Given the description of an element on the screen output the (x, y) to click on. 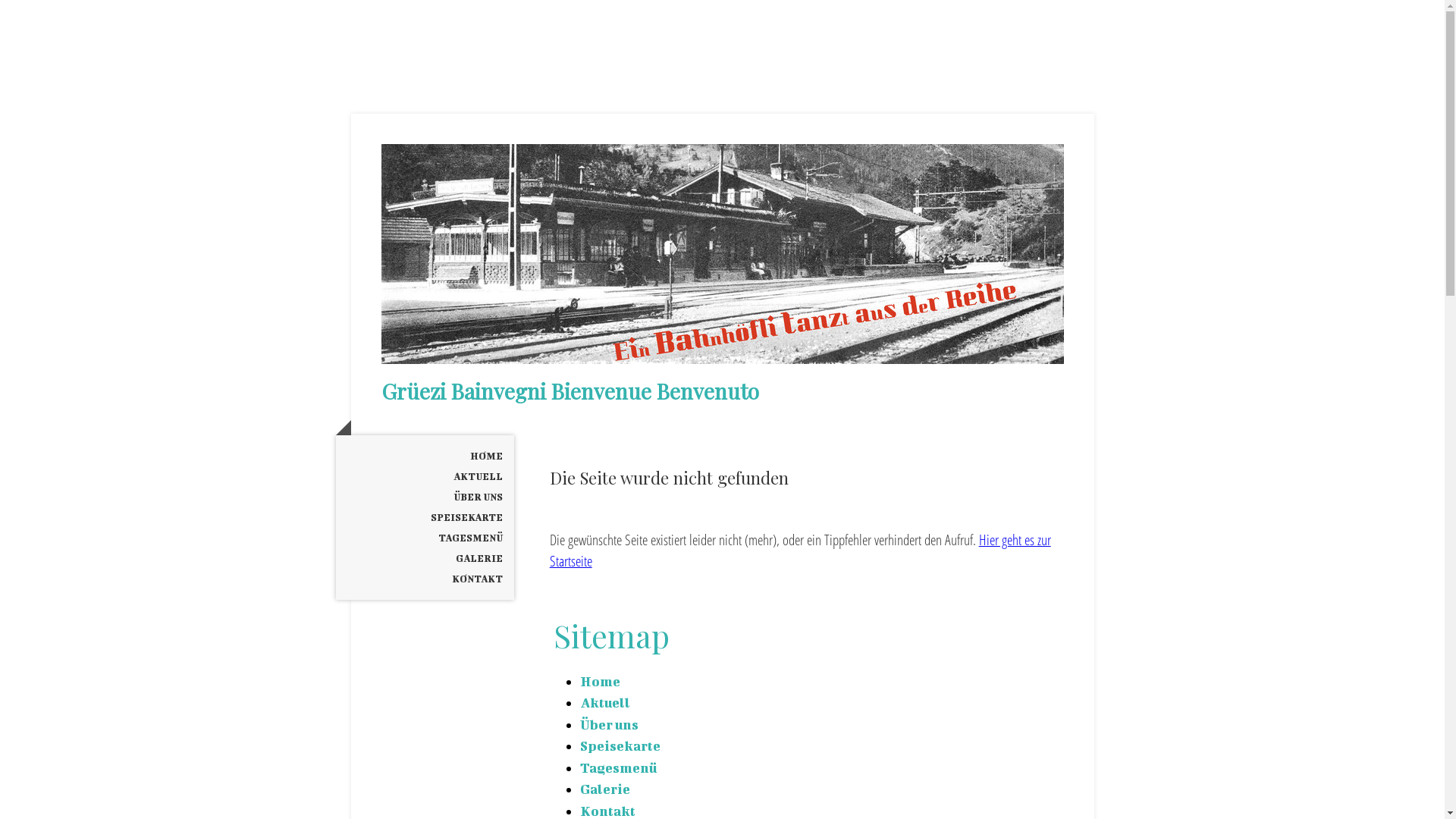
Hier geht es zur Startseite Element type: text (800, 550)
Kontakt Element type: text (607, 810)
GALERIE Element type: text (424, 558)
SPEISEKARTE Element type: text (424, 517)
Aktuell Element type: text (605, 701)
AKTUELL Element type: text (424, 476)
KONTAKT Element type: text (424, 578)
Home Element type: text (600, 680)
Speisekarte Element type: text (620, 745)
HOME Element type: text (424, 455)
Galerie Element type: text (605, 788)
